Given the description of an element on the screen output the (x, y) to click on. 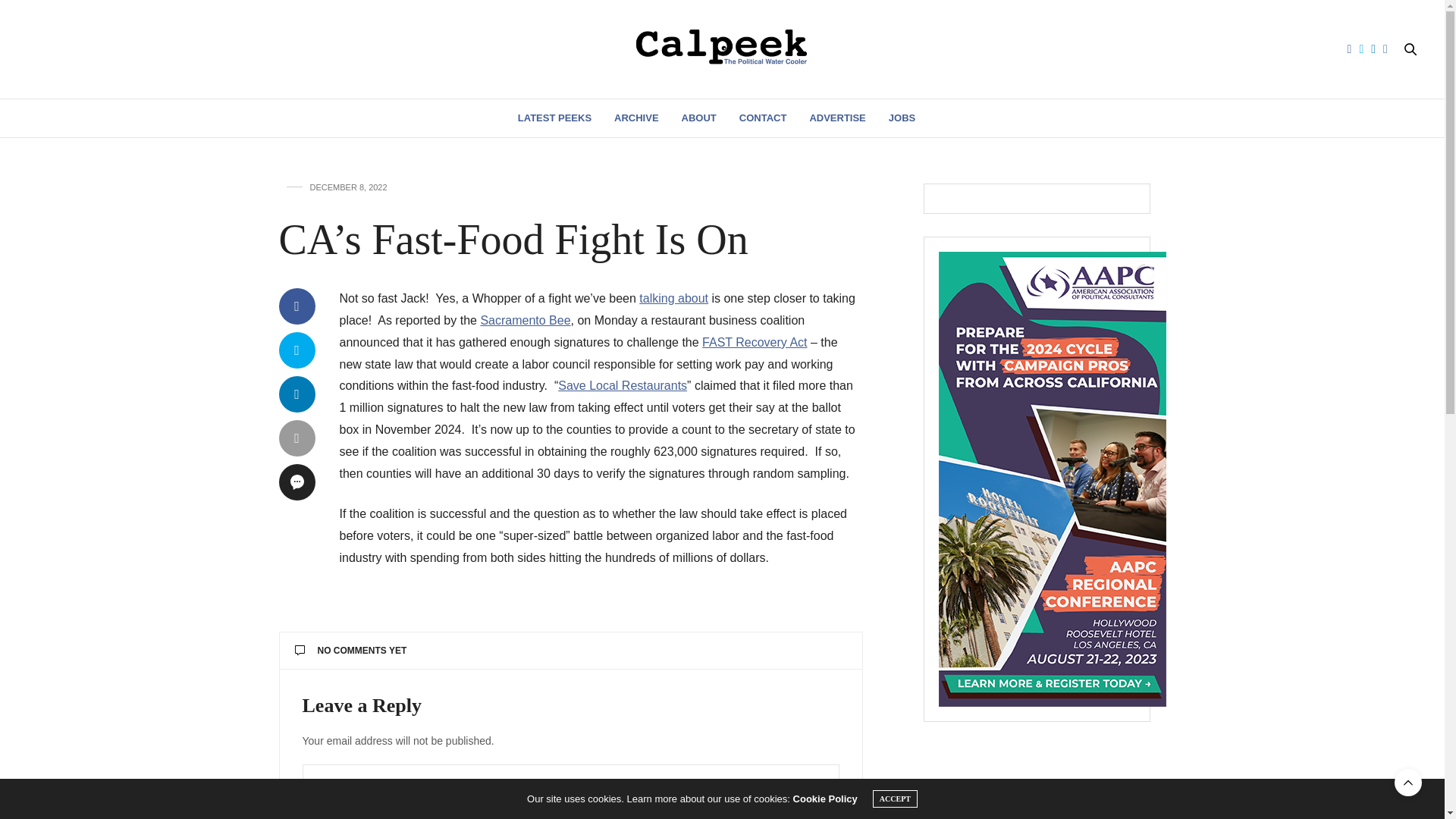
ARCHIVE (636, 118)
talking about (673, 297)
Scroll To Top (1408, 782)
NO COMMENTS YET (570, 650)
Save Local Restaurants (622, 385)
CONTACT (763, 118)
FAST Recovery Act (753, 341)
Sacramento Bee (525, 319)
Calpeek (721, 49)
ABOUT (698, 118)
LATEST PEEKS (554, 118)
ADVERTISE (836, 118)
JOBS (901, 118)
